Given the description of an element on the screen output the (x, y) to click on. 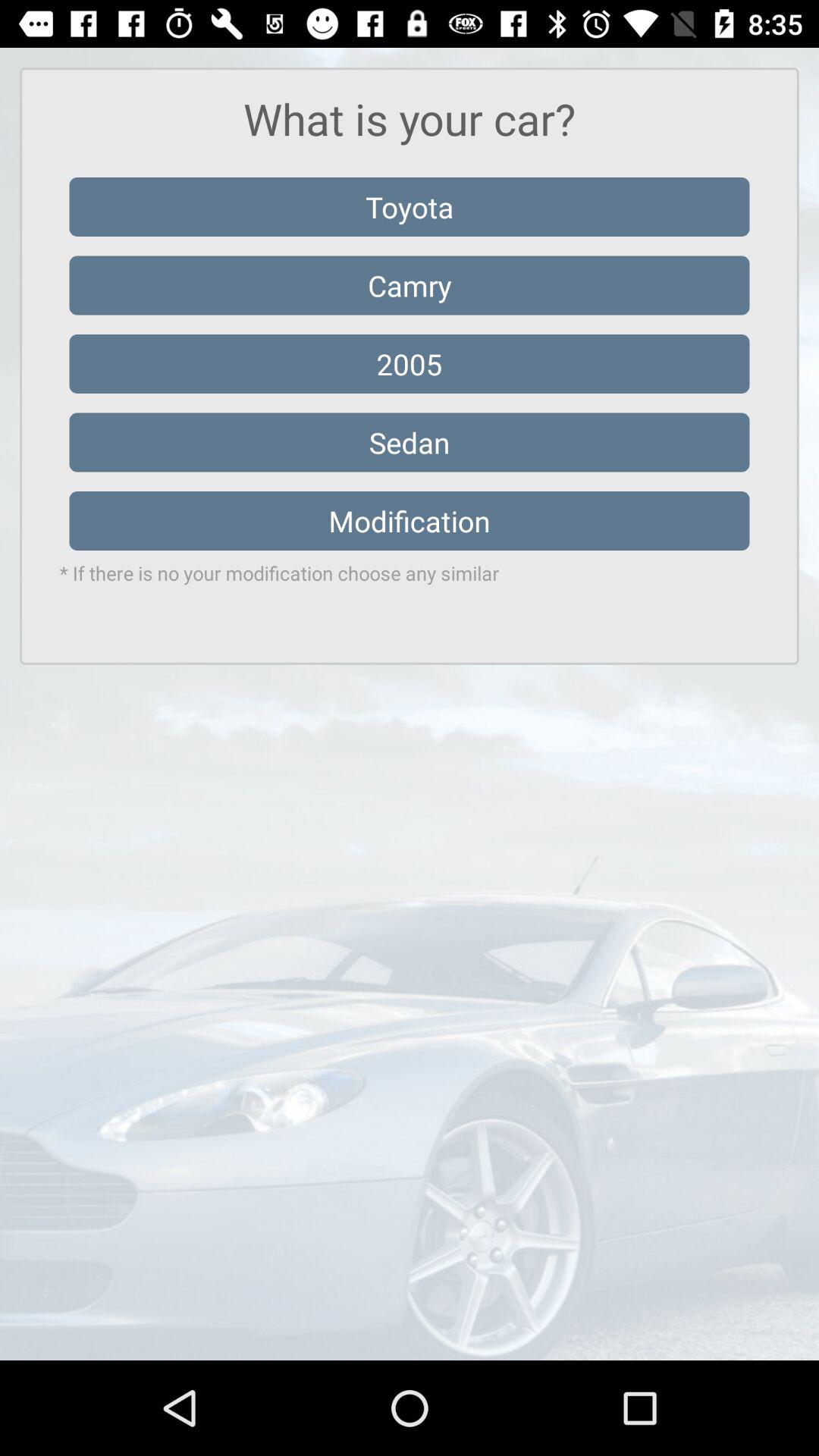
flip to 2005 (409, 363)
